Given the description of an element on the screen output the (x, y) to click on. 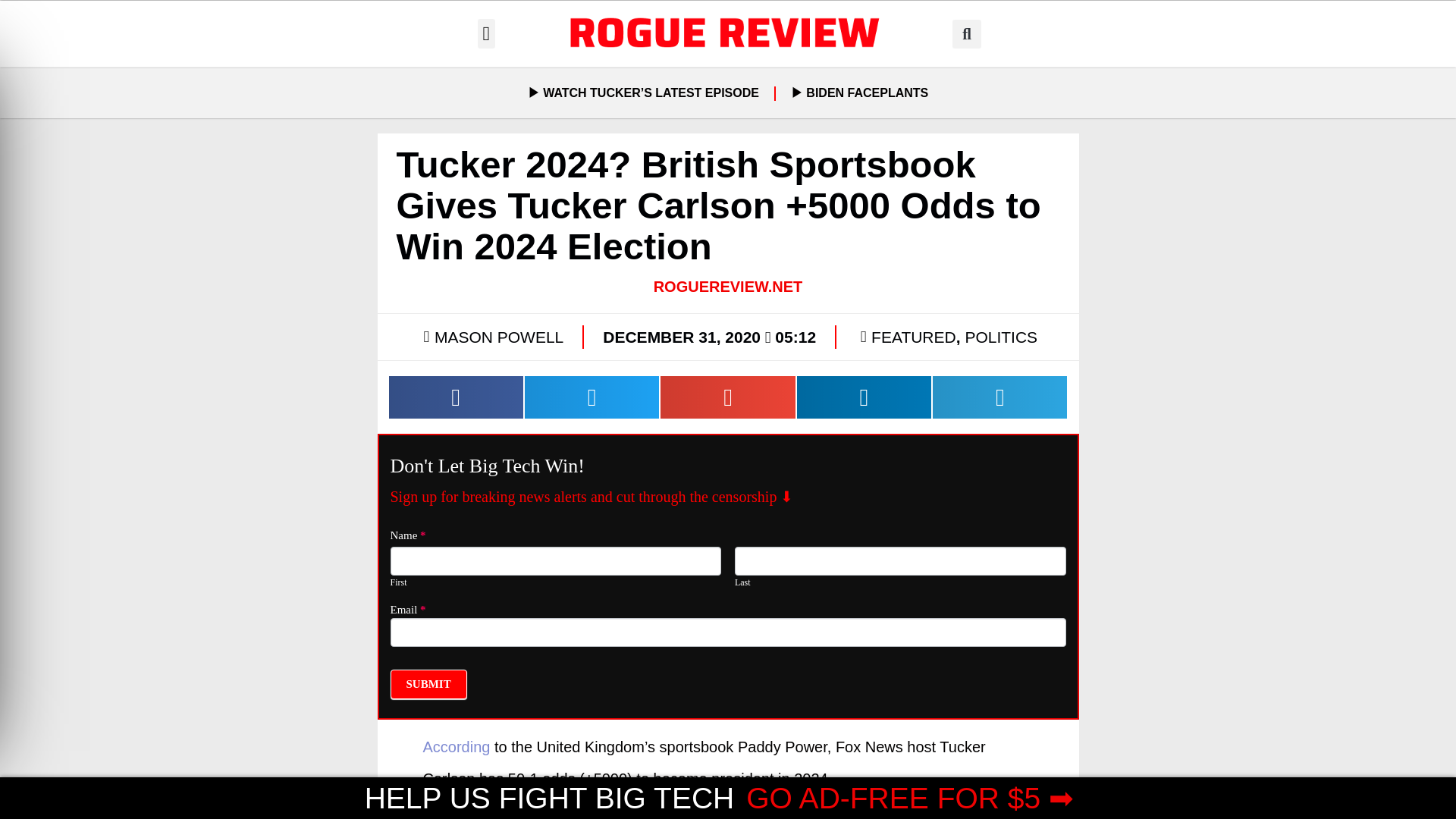
MASON POWELL (491, 336)
According (456, 746)
POLITICS (999, 336)
SUBMIT (427, 684)
FEATURED (913, 336)
